Given the description of an element on the screen output the (x, y) to click on. 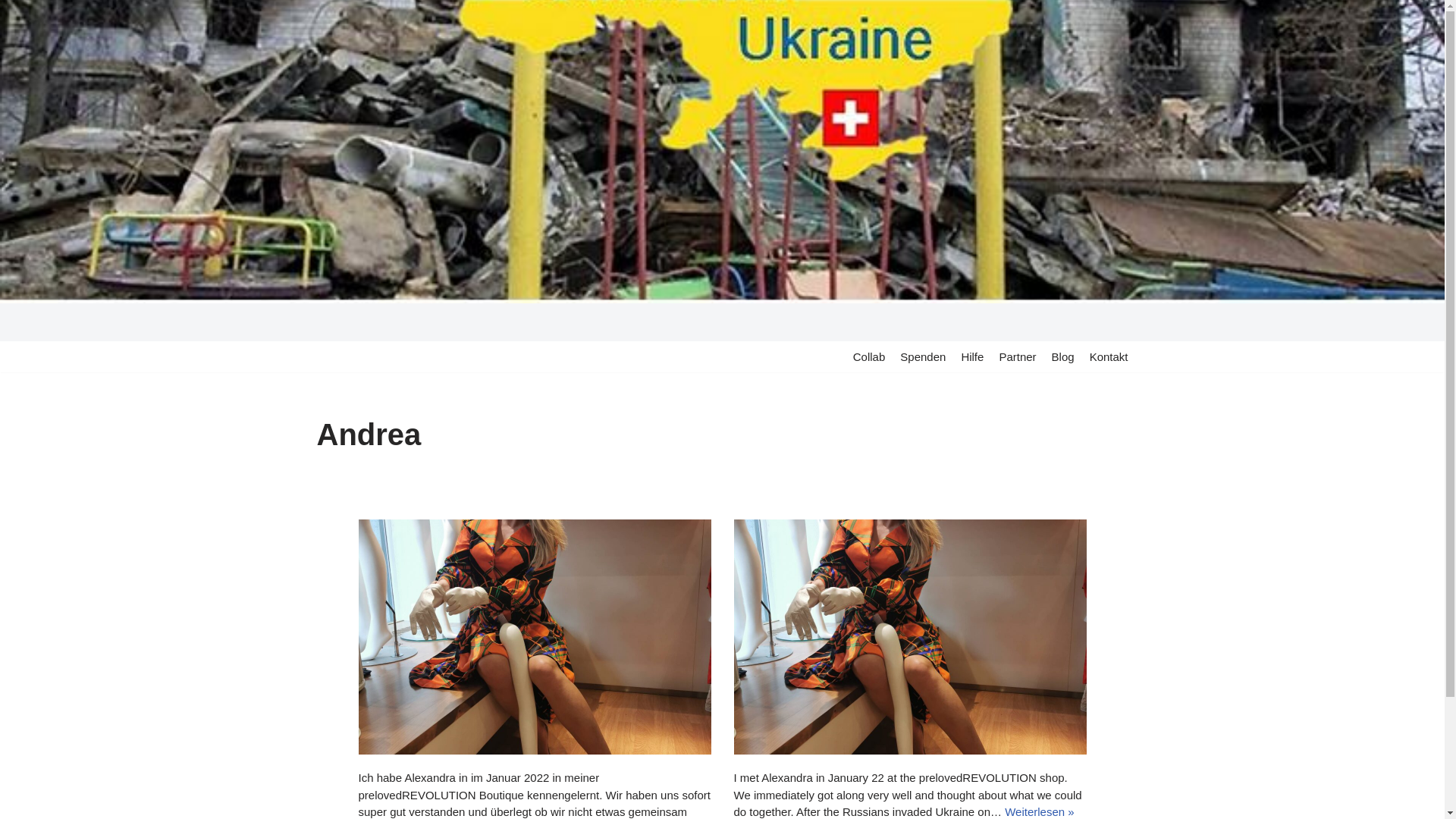
Wie alles angefangen hat Element type: hover (533, 636)
Hilfe Element type: text (971, 356)
Kontakt Element type: text (1108, 356)
Blog Element type: text (1062, 356)
How it began Element type: hover (910, 636)
Spenden Element type: text (922, 356)
Zum Inhalt Element type: text (11, 31)
Collab Element type: text (869, 356)
Partner Element type: text (1016, 356)
